Given the description of an element on the screen output the (x, y) to click on. 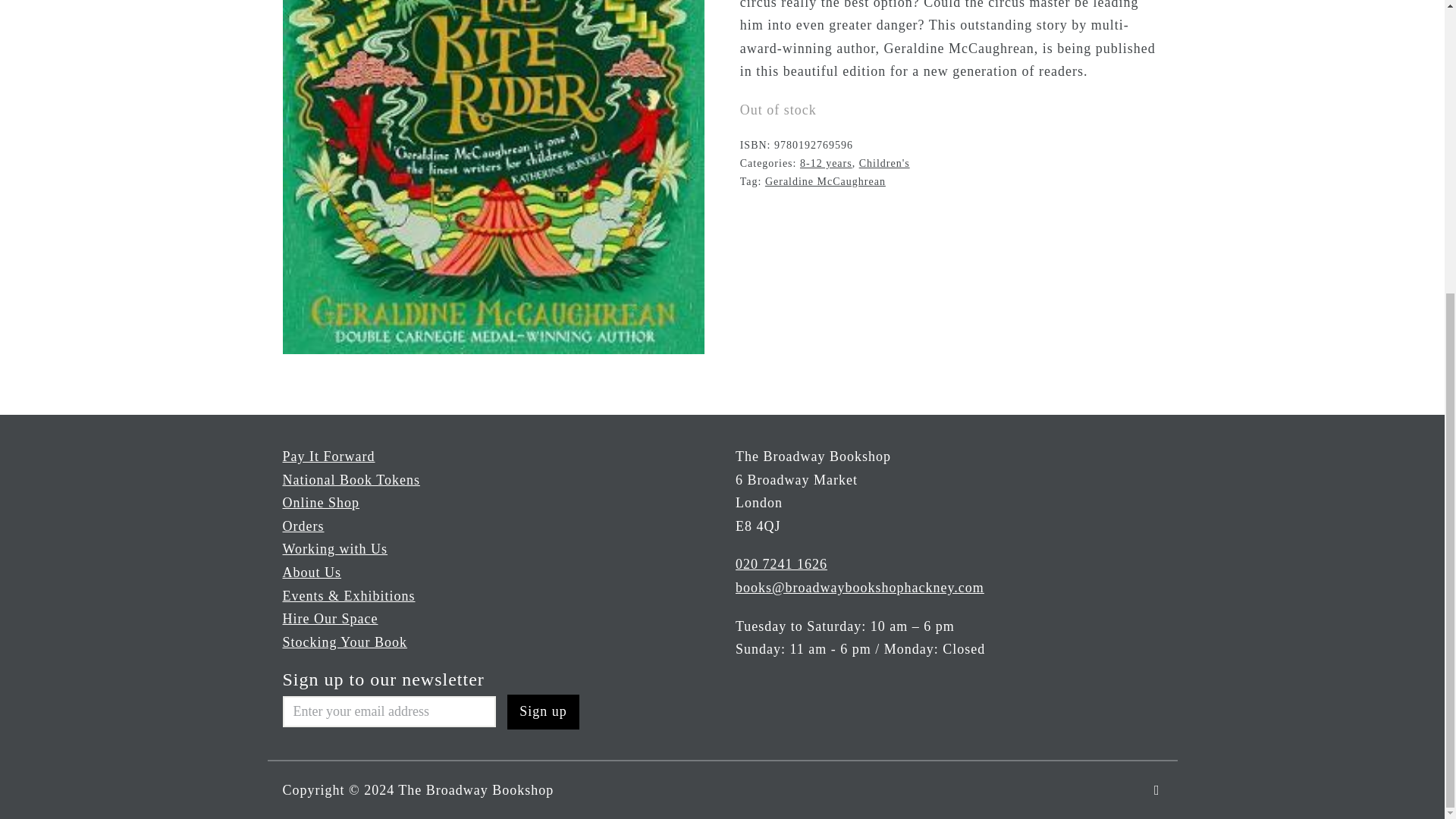
Sign up (542, 711)
